Given the description of an element on the screen output the (x, y) to click on. 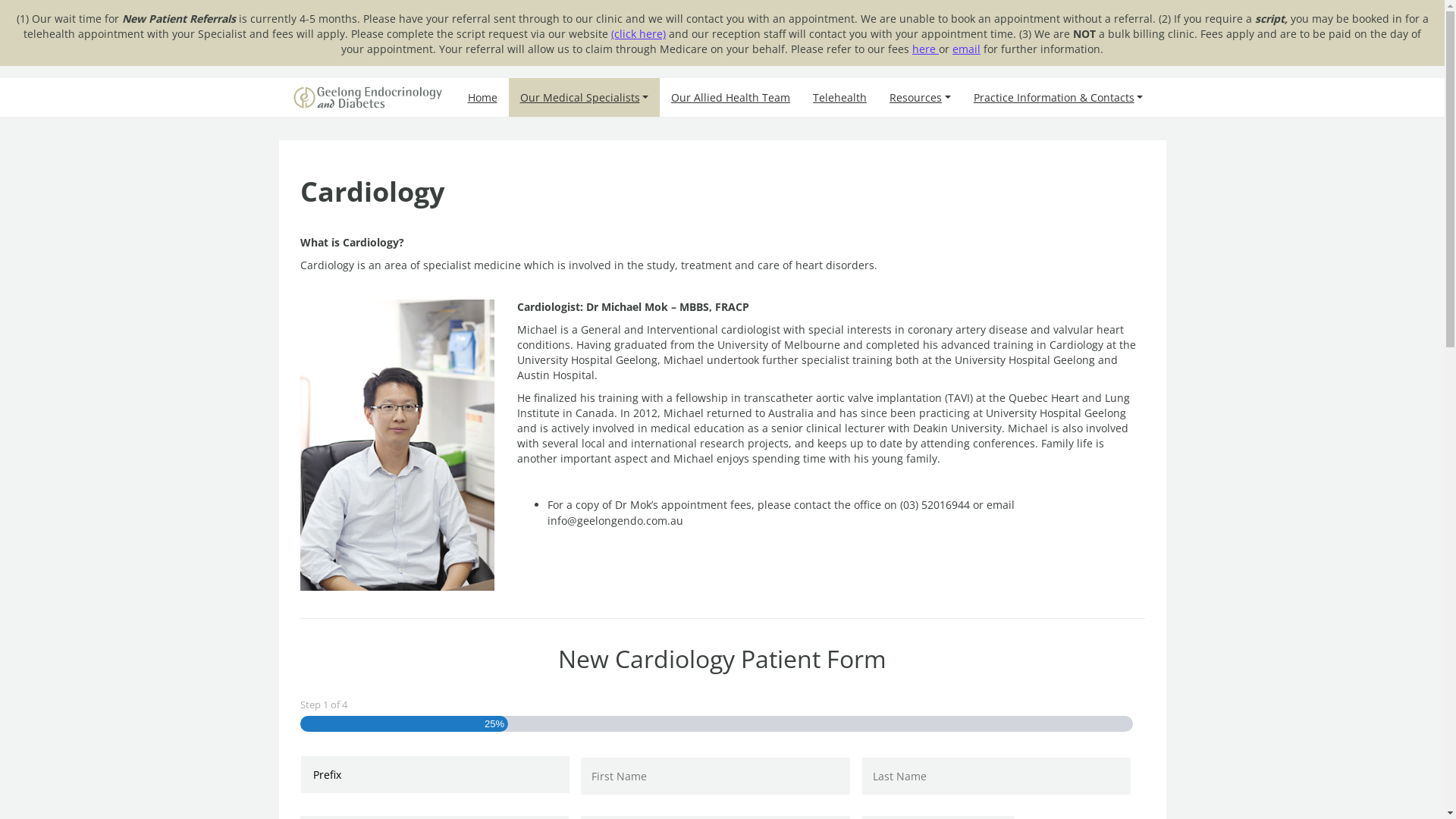
Our Allied Health Team Element type: text (730, 97)
Home Element type: text (482, 97)
Our Medical Specialists Element type: text (583, 97)
Resources Element type: text (920, 97)
Practice Information & Contacts Element type: text (1058, 97)
here Element type: text (925, 48)
(click here) Element type: text (638, 33)
Telehealth Element type: text (839, 97)
email Element type: text (966, 48)
